Given the description of an element on the screen output the (x, y) to click on. 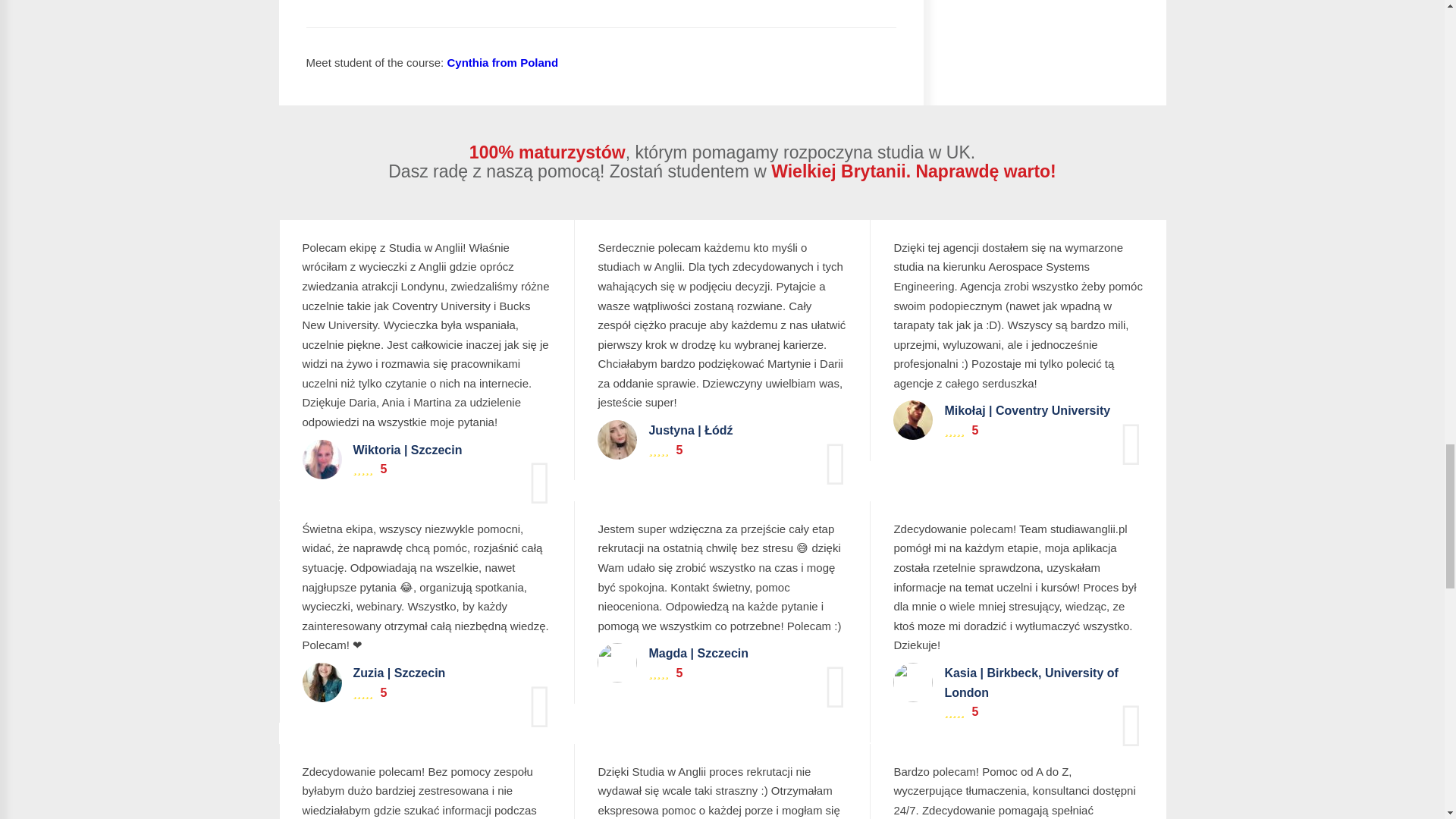
Cynthia from Poland (501, 62)
